Given the description of an element on the screen output the (x, y) to click on. 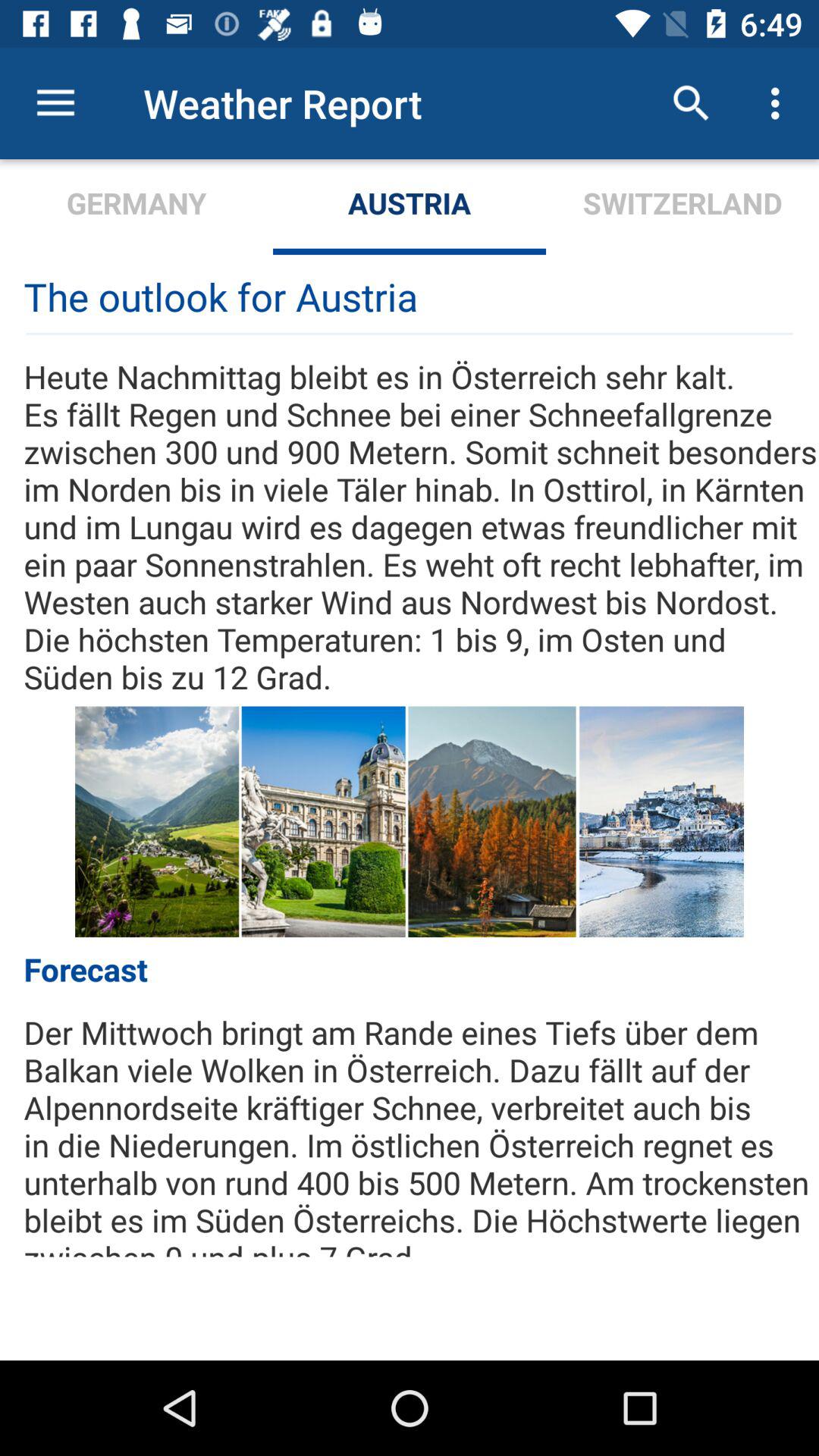
swipe until germany (136, 206)
